Given the description of an element on the screen output the (x, y) to click on. 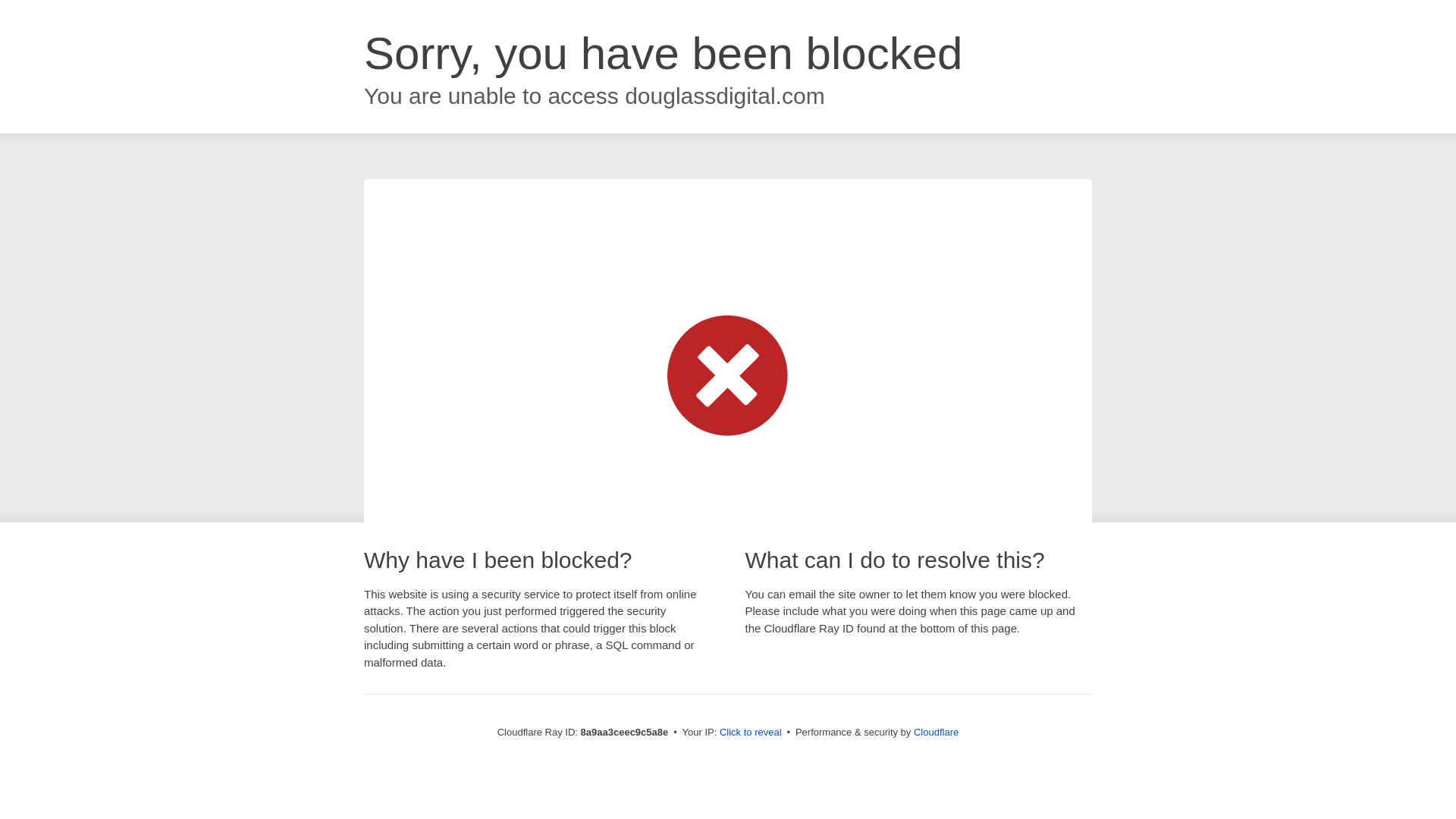
Cloudflare (936, 731)
Click to reveal (750, 732)
